Given the description of an element on the screen output the (x, y) to click on. 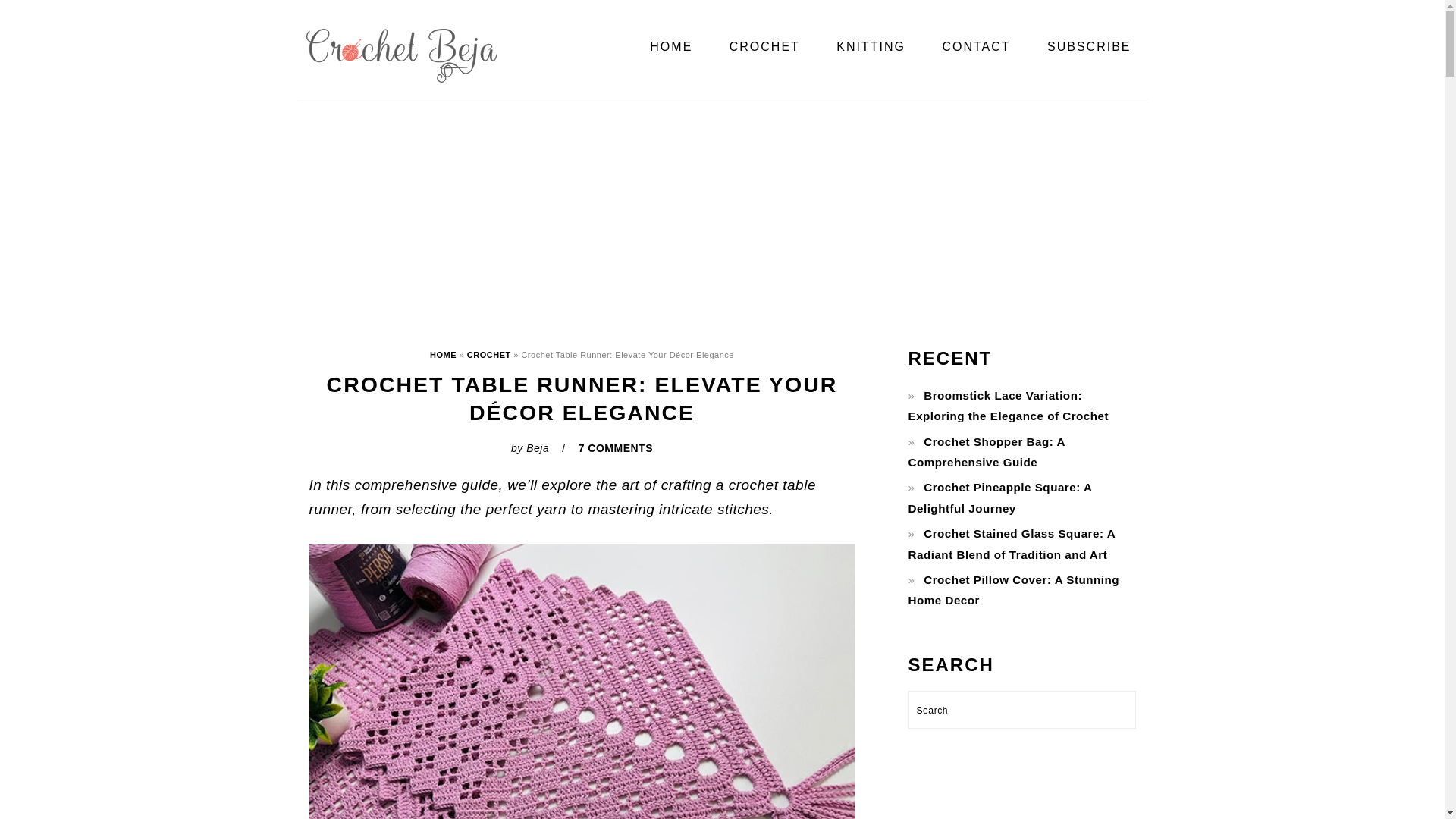
HOME (670, 47)
SUBSCRIBE (1088, 47)
KNITTING (871, 47)
CROCHET (764, 47)
Advertisement (1021, 795)
CONTACT (976, 47)
